Given the description of an element on the screen output the (x, y) to click on. 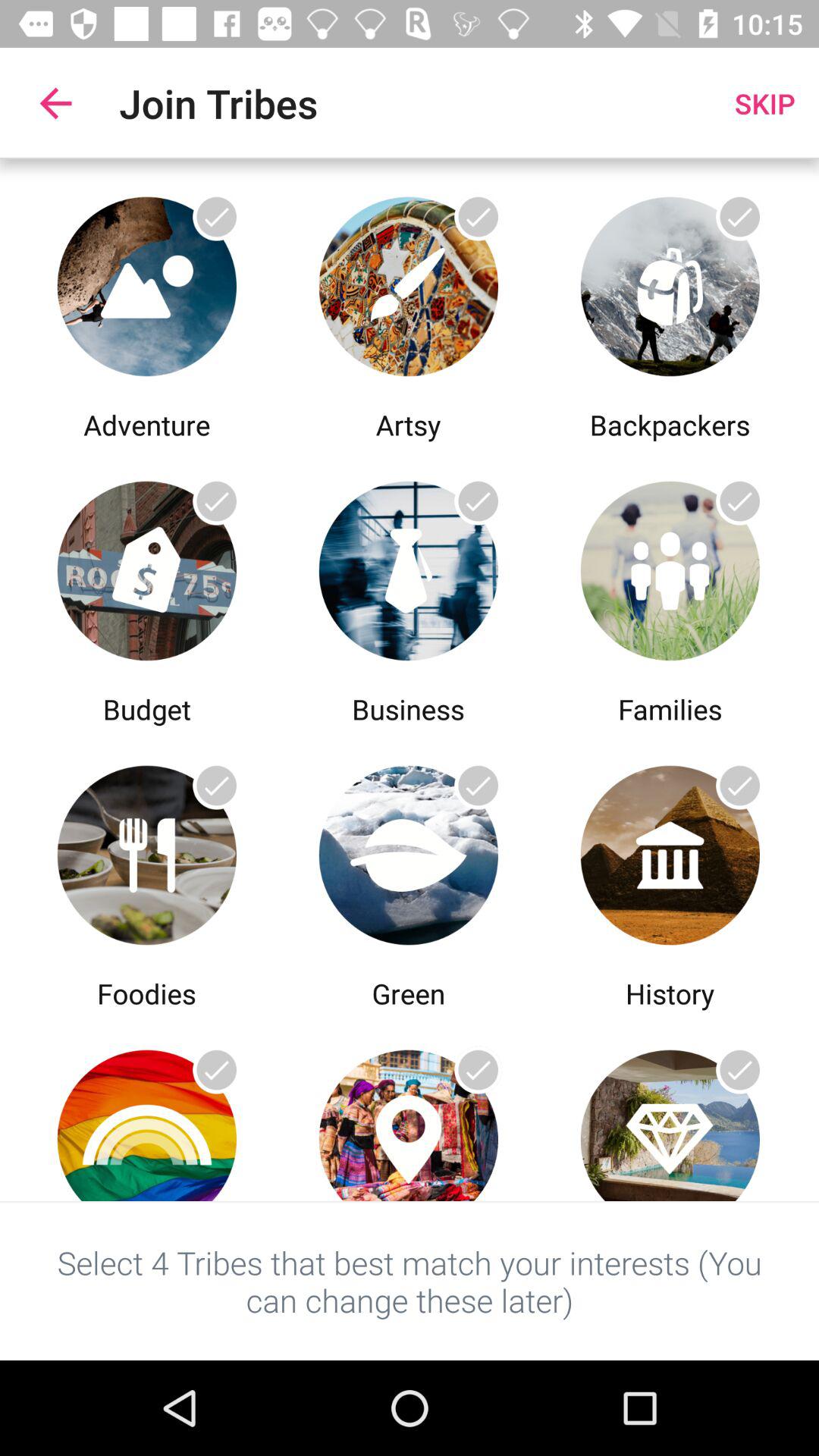
funo de negocios (408, 566)
